Given the description of an element on the screen output the (x, y) to click on. 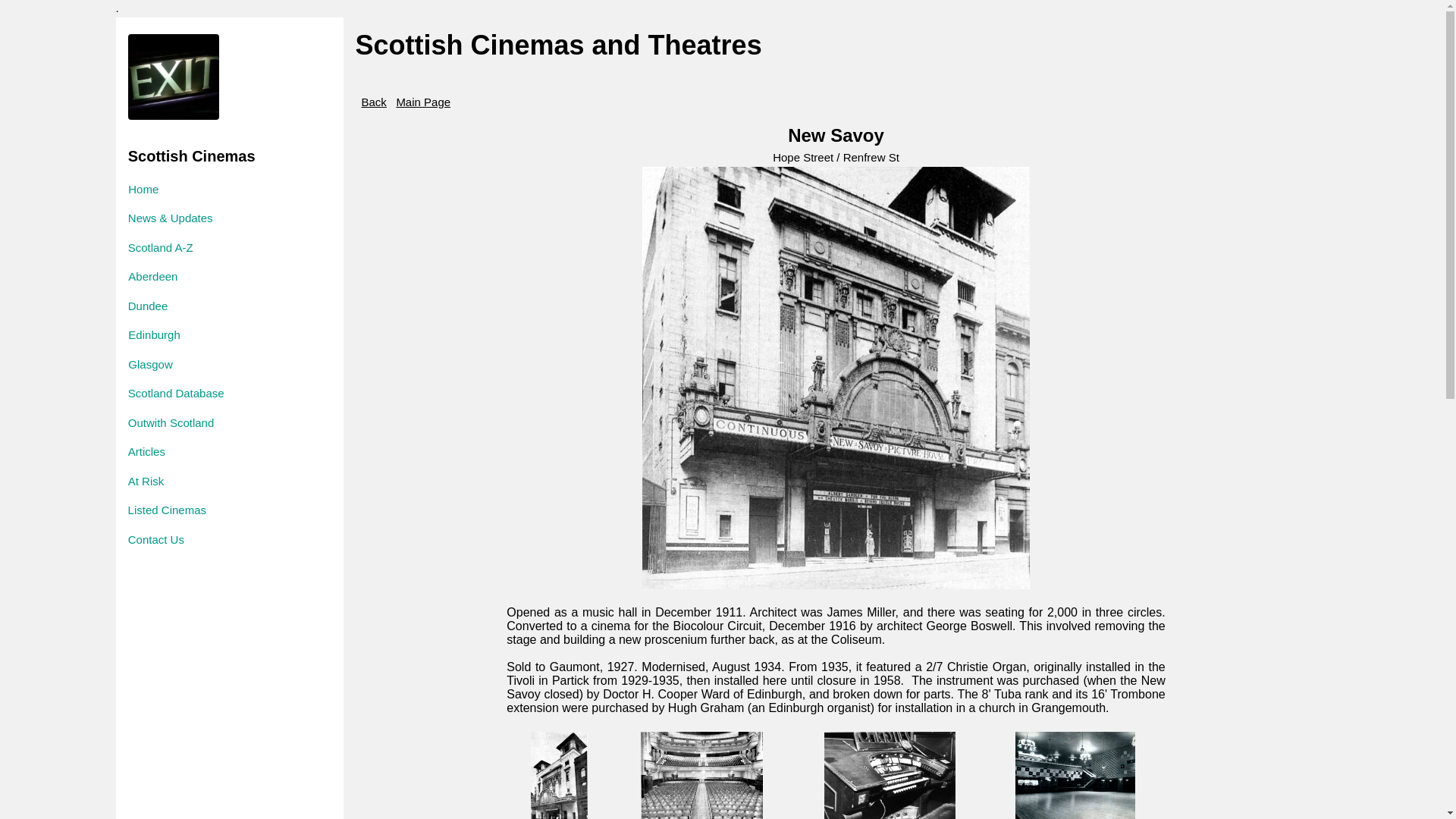
Dundee (73, 306)
Edinburgh (85, 335)
Main Page (422, 101)
Home (15, 189)
Articles (107, 451)
At Risk (110, 481)
Outwith Scotland (104, 423)
Aberdeen (65, 276)
Contact Us (113, 540)
Glasgow (95, 365)
